Given the description of an element on the screen output the (x, y) to click on. 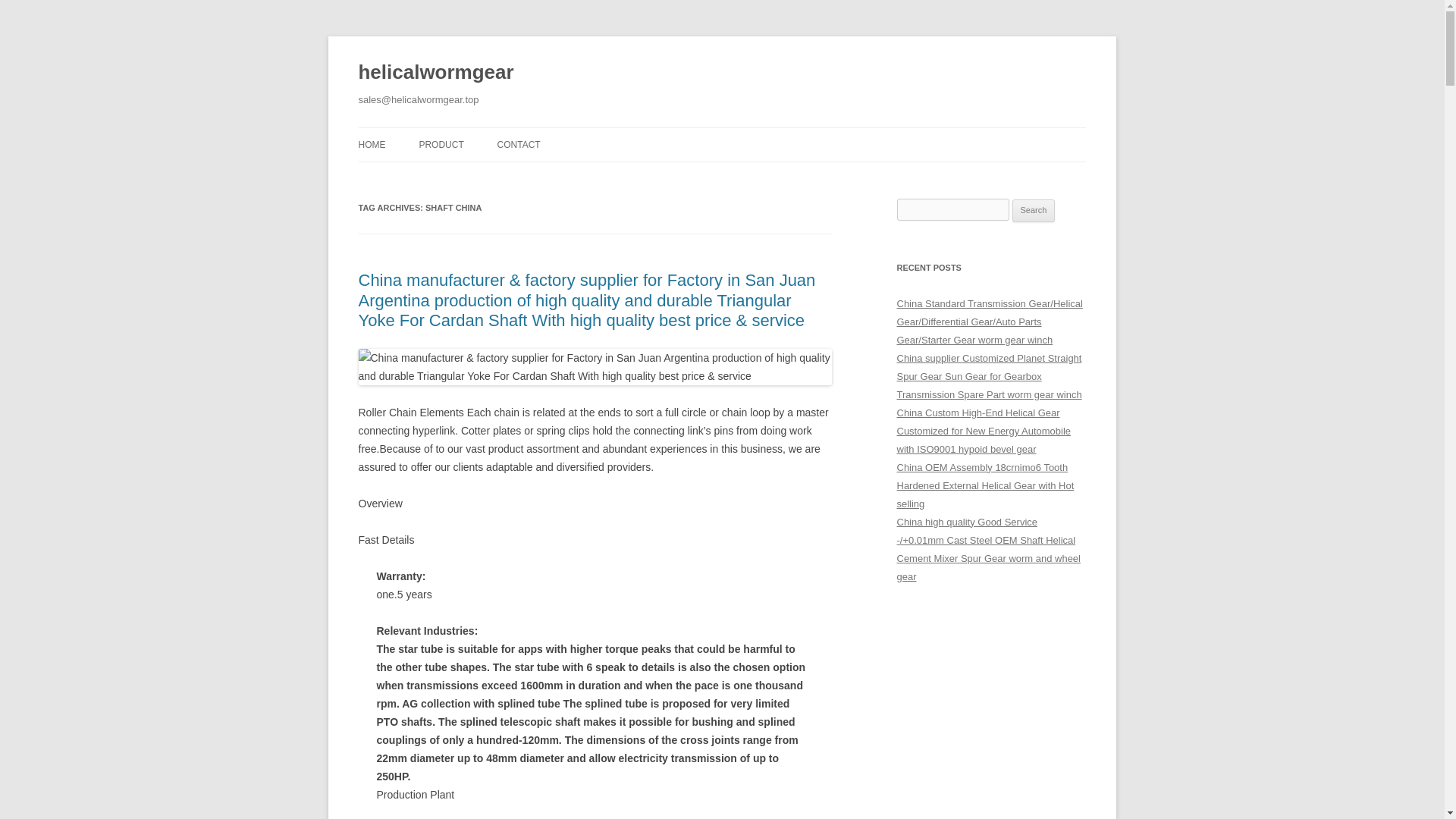
helicalwormgear (435, 72)
CONTACT (518, 144)
Search (1033, 210)
helicalwormgear (435, 72)
PRODUCT (441, 144)
